Given the description of an element on the screen output the (x, y) to click on. 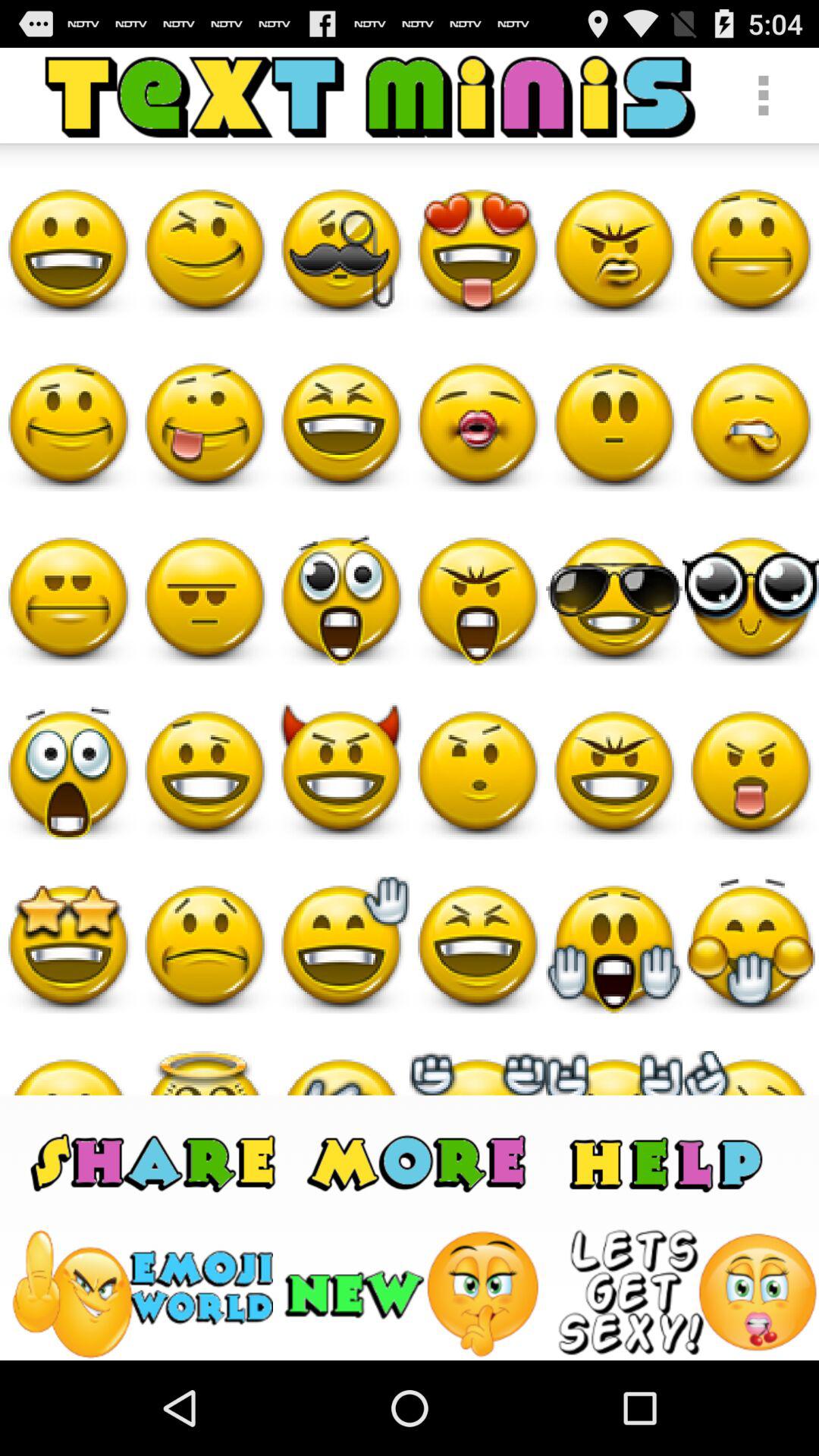
get a question answered (665, 1161)
